Given the description of an element on the screen output the (x, y) to click on. 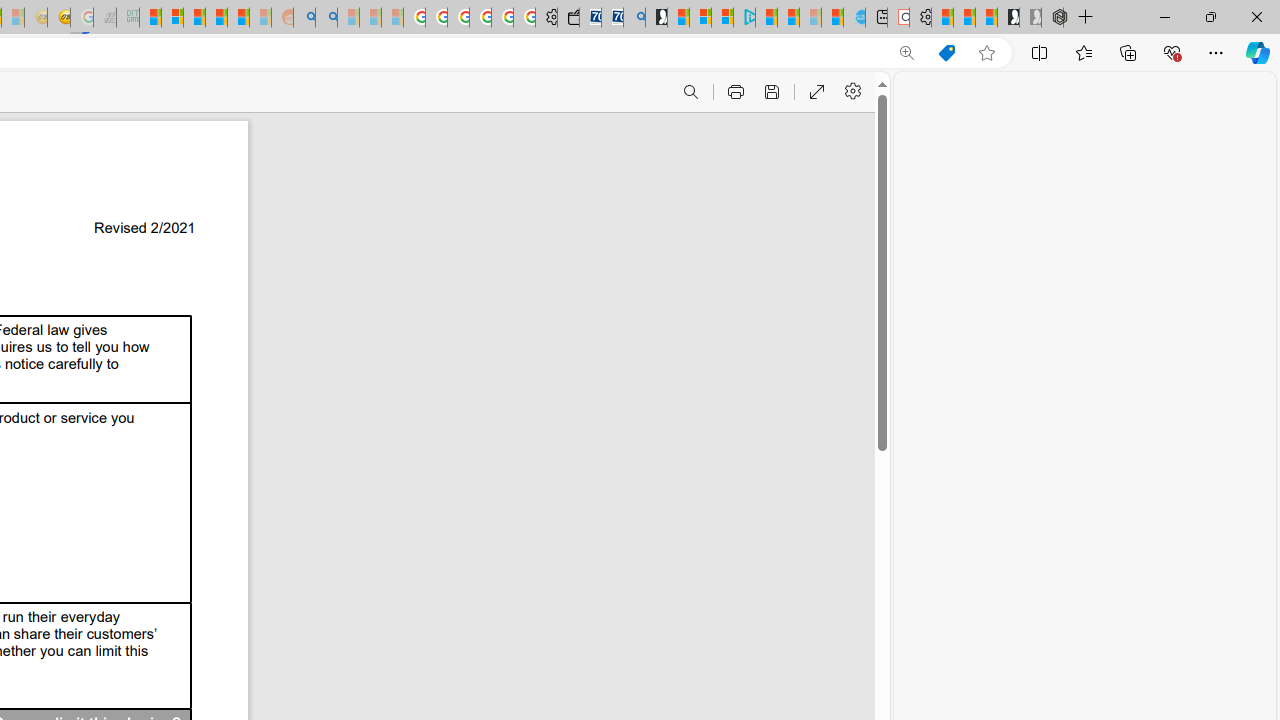
Save (Ctrl+S) (770, 92)
Student Loan Update: Forgiveness Program Ends This Month (238, 17)
